Given the description of an element on the screen output the (x, y) to click on. 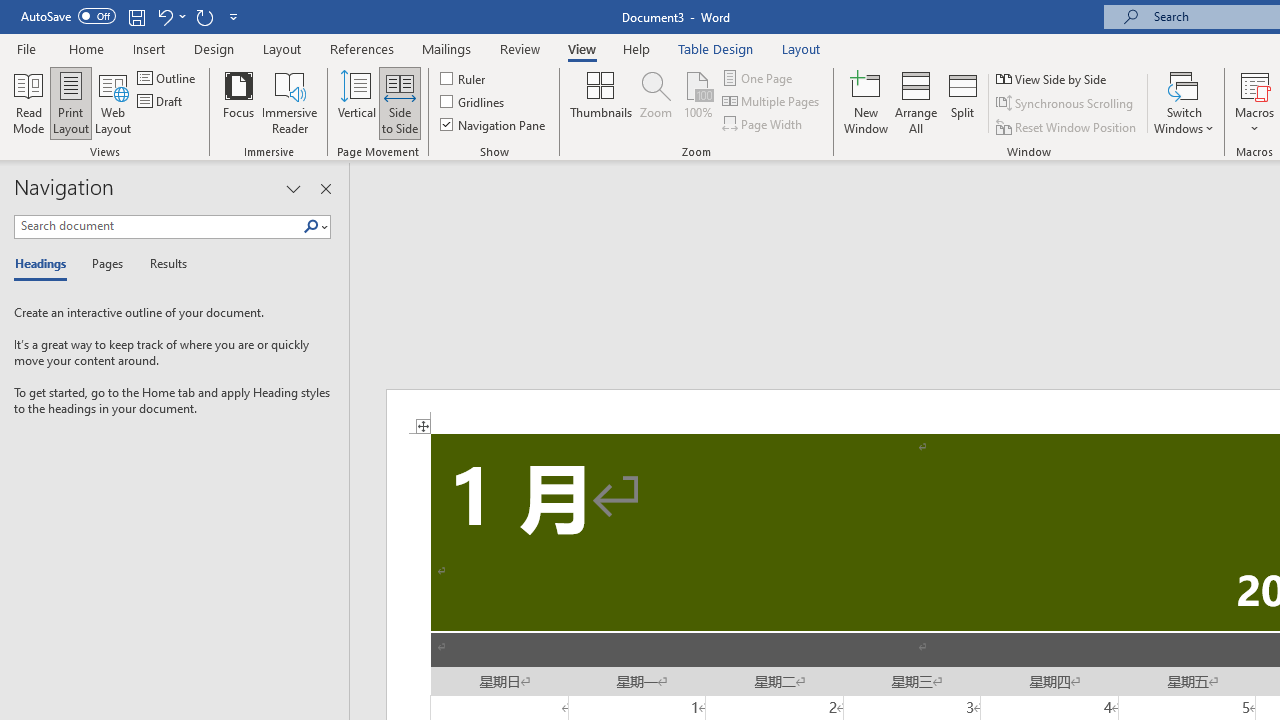
Draft (161, 101)
Arrange All (916, 102)
Zoom... (655, 102)
Search document (157, 226)
